Given the description of an element on the screen output the (x, y) to click on. 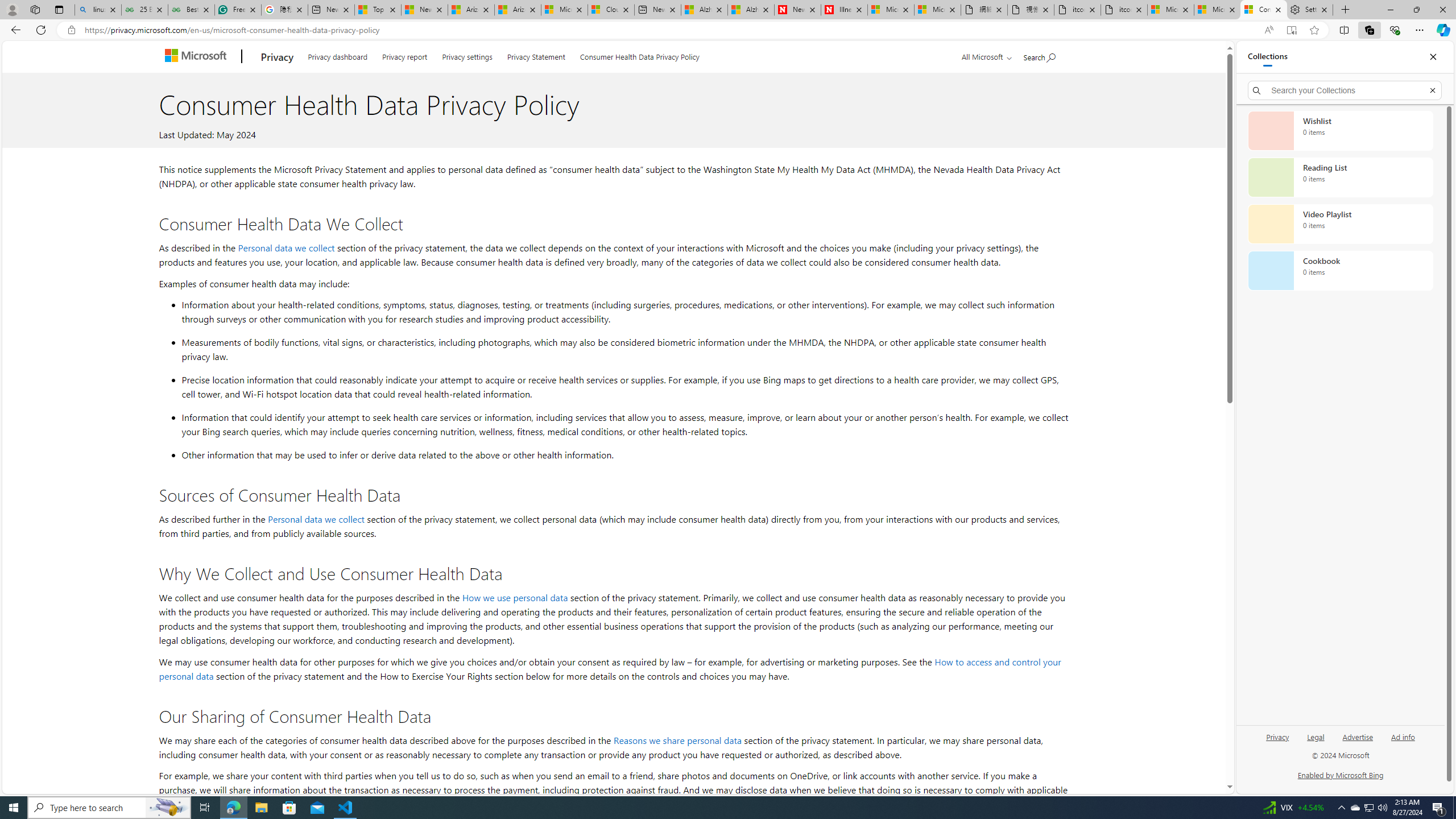
Wishlist collection, 0 items (1339, 130)
Privacy report (404, 54)
Best SSL Certificates Provider in India - GeeksforGeeks (191, 9)
Microsoft (197, 56)
linux basic - Search (97, 9)
Free AI Writing Assistance for Students | Grammarly (237, 9)
Video Playlist collection, 0 items (1339, 223)
Cookbook collection, 0 items (1339, 270)
itconcepthk.com/projector_solutions.mp4 (1123, 9)
